Given the description of an element on the screen output the (x, y) to click on. 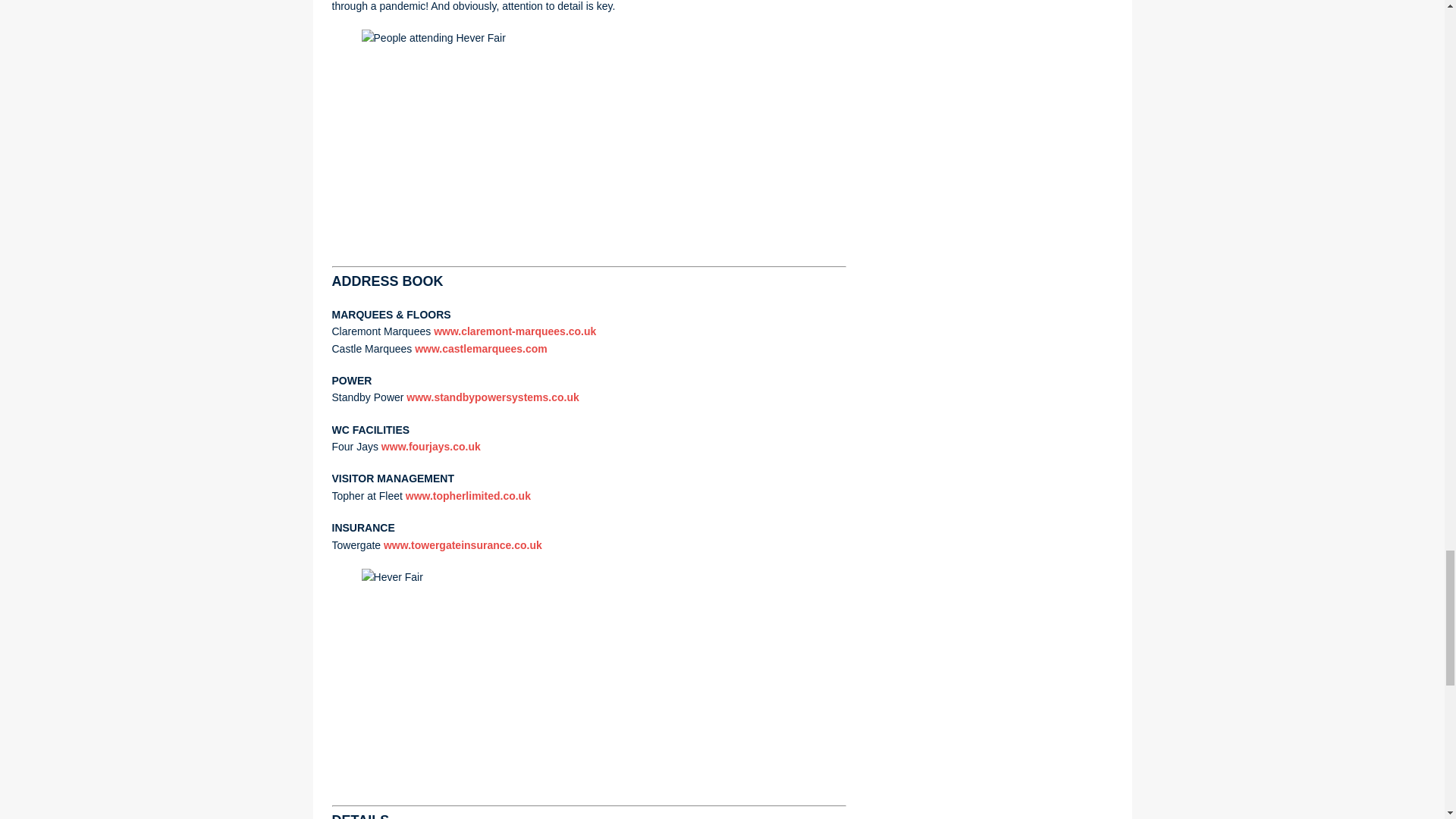
www.standbypowersystems.co.uk (492, 397)
www.towergateinsurance.co.uk (462, 544)
www.castlemarquees.com (480, 348)
www.topherlimited.co.uk (468, 495)
www.fourjays.co.uk (430, 446)
www.claremont-marquees.co.uk (514, 331)
